Given the description of an element on the screen output the (x, y) to click on. 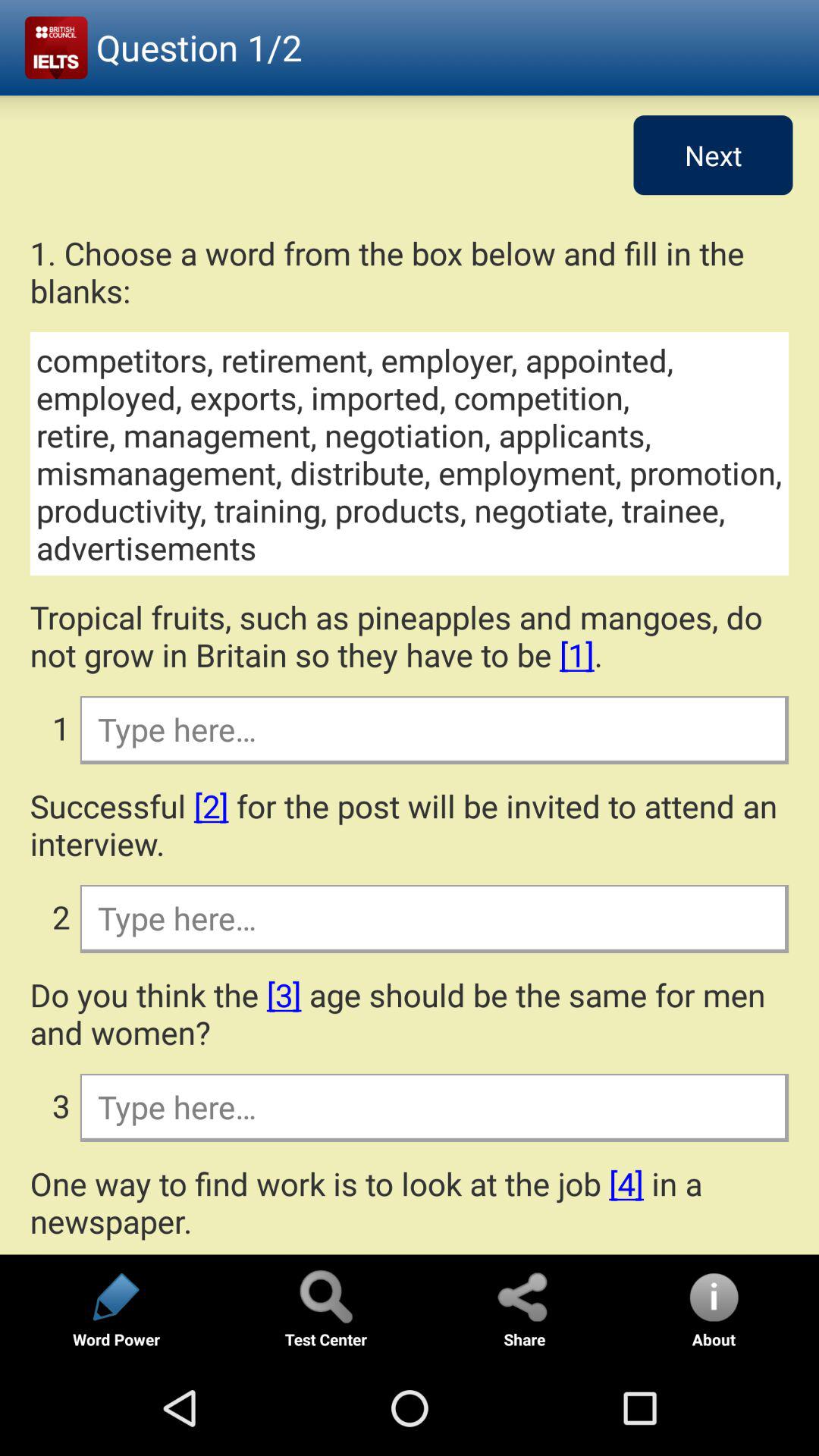
launch the icon above 3 app (409, 1013)
